Given the description of an element on the screen output the (x, y) to click on. 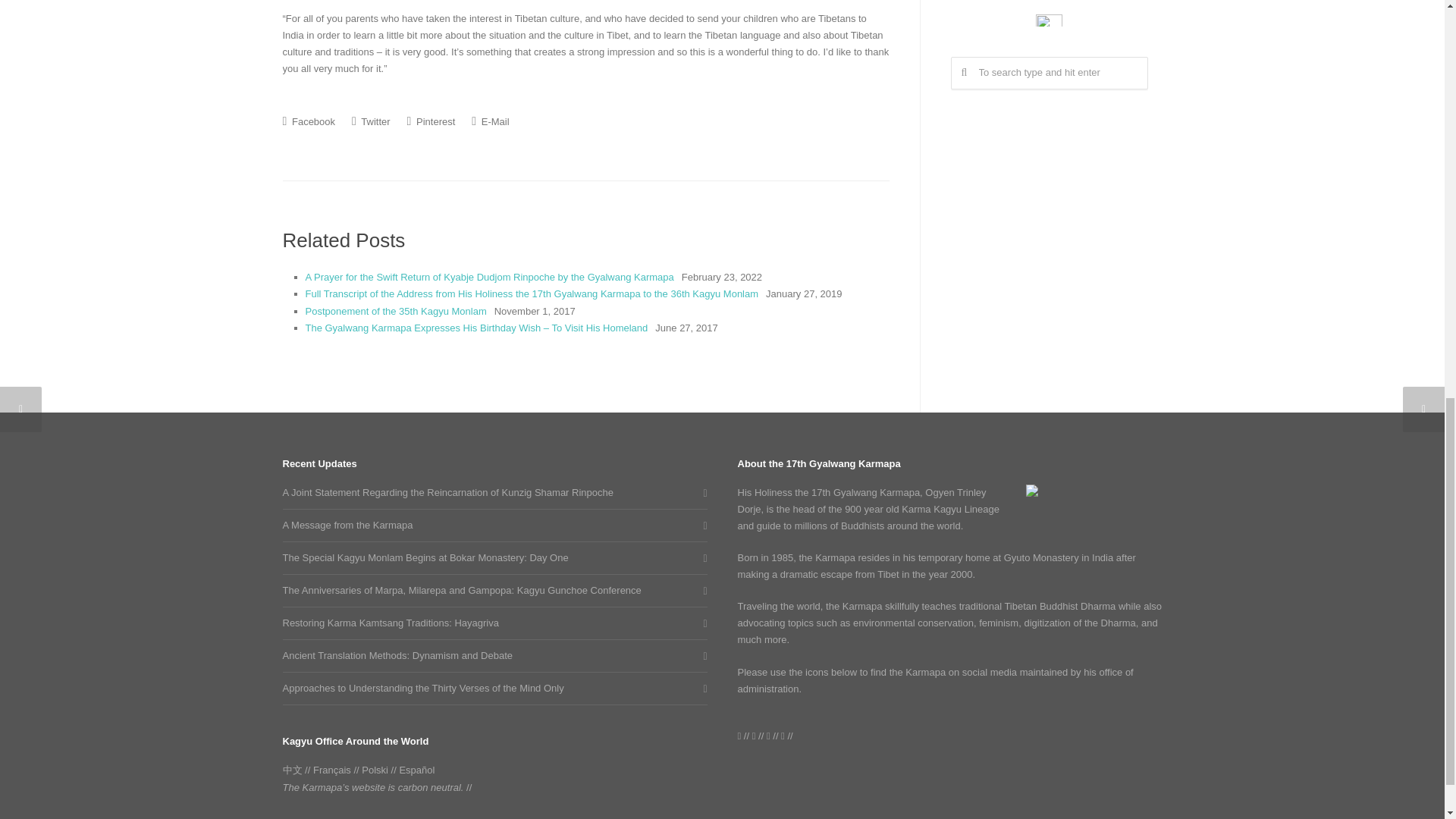
To search type and hit enter (1049, 72)
Share via Twitter (371, 121)
Share via Facebook (308, 121)
Link to Postponement of the 35th Kagyu Monlam (395, 310)
Share via Pinterest (431, 121)
Share via E-Mail (489, 121)
